Given the description of an element on the screen output the (x, y) to click on. 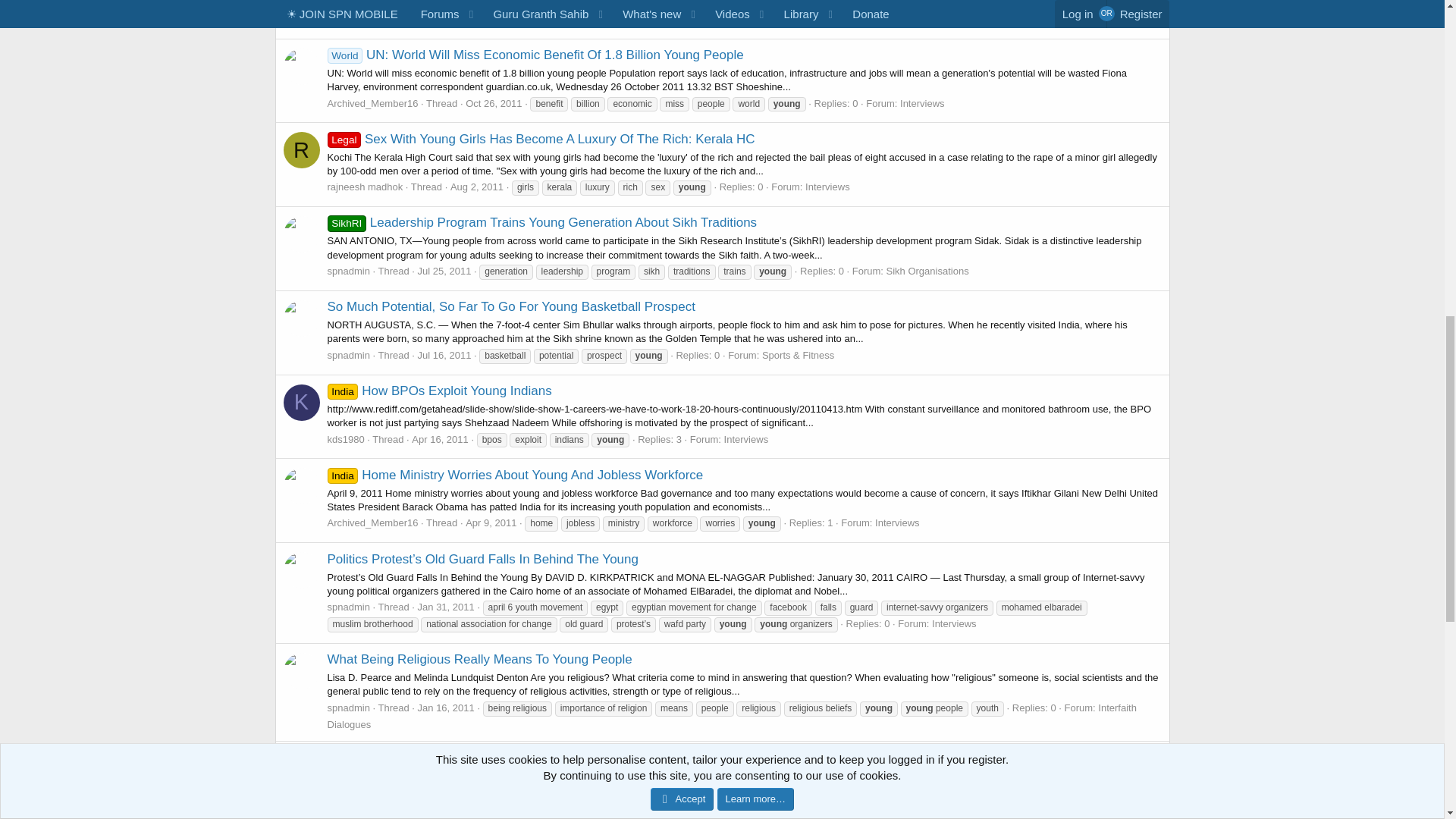
Oct 26, 2011 at 11:06 AM (493, 102)
Jul 25, 2011 at 6:47 PM (444, 270)
Apr 9, 2011 at 2:18 PM (490, 522)
Jan 16, 2011 at 10:40 AM (445, 707)
Jan 31, 2011 at 1:28 AM (445, 606)
Aug 2, 2011 at 11:29 AM (476, 186)
Apr 16, 2011 at 5:17 PM (439, 439)
Jul 16, 2011 at 10:23 PM (444, 355)
Oct 31, 2011 at 9:49 AM (493, 19)
Jan 15, 2011 at 3:14 PM (445, 805)
